Given the description of an element on the screen output the (x, y) to click on. 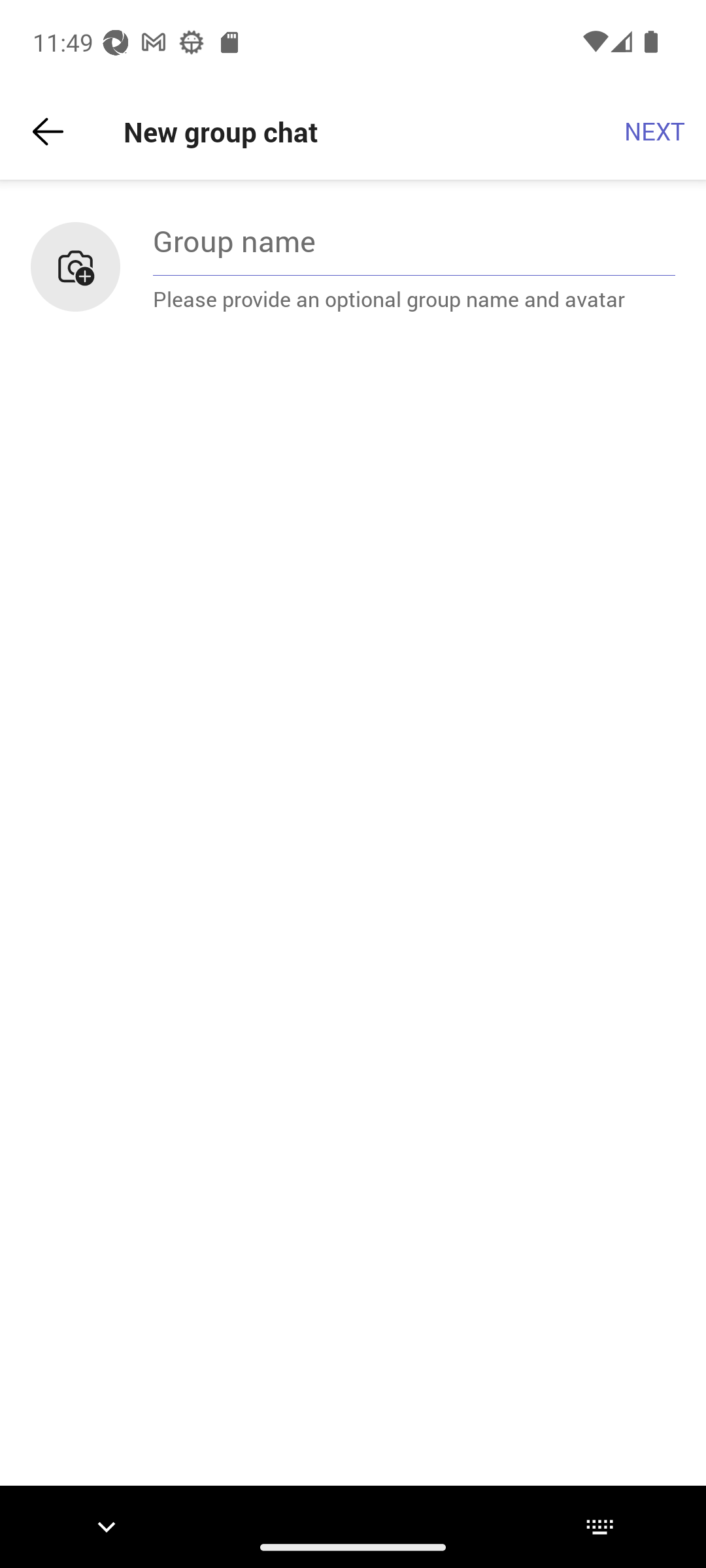
Back (48, 131)
NEXT (654, 131)
Group name (413, 240)
Edit Image (75, 267)
